Given the description of an element on the screen output the (x, y) to click on. 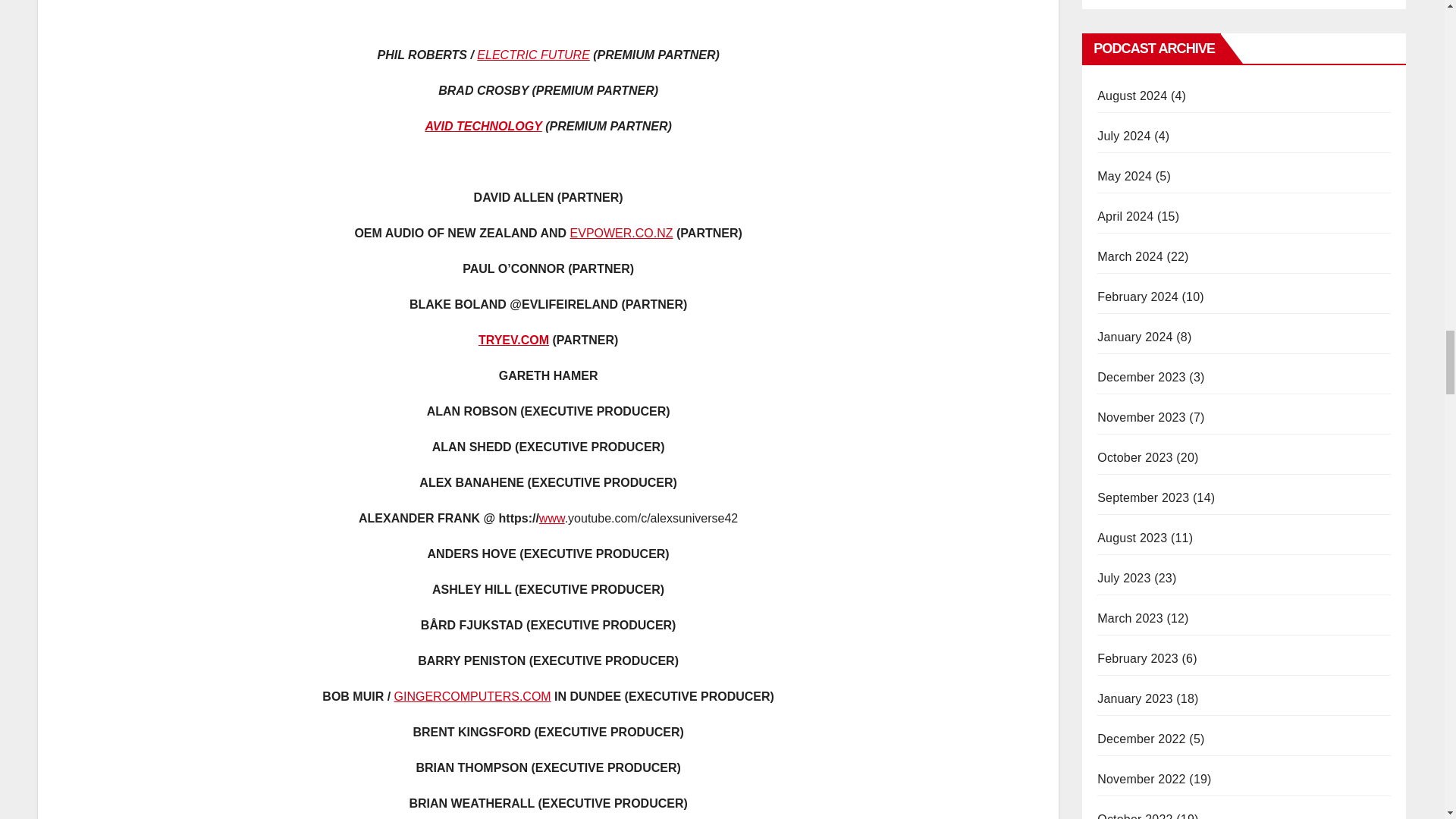
AVID TECHNOLOGY (483, 125)
TRYEV.COM (513, 339)
GINGERCOMPUTERS.COM (472, 696)
ELECTRIC FUTURE (533, 54)
www (551, 517)
EVPOWER.CO.NZ (621, 232)
